Given the description of an element on the screen output the (x, y) to click on. 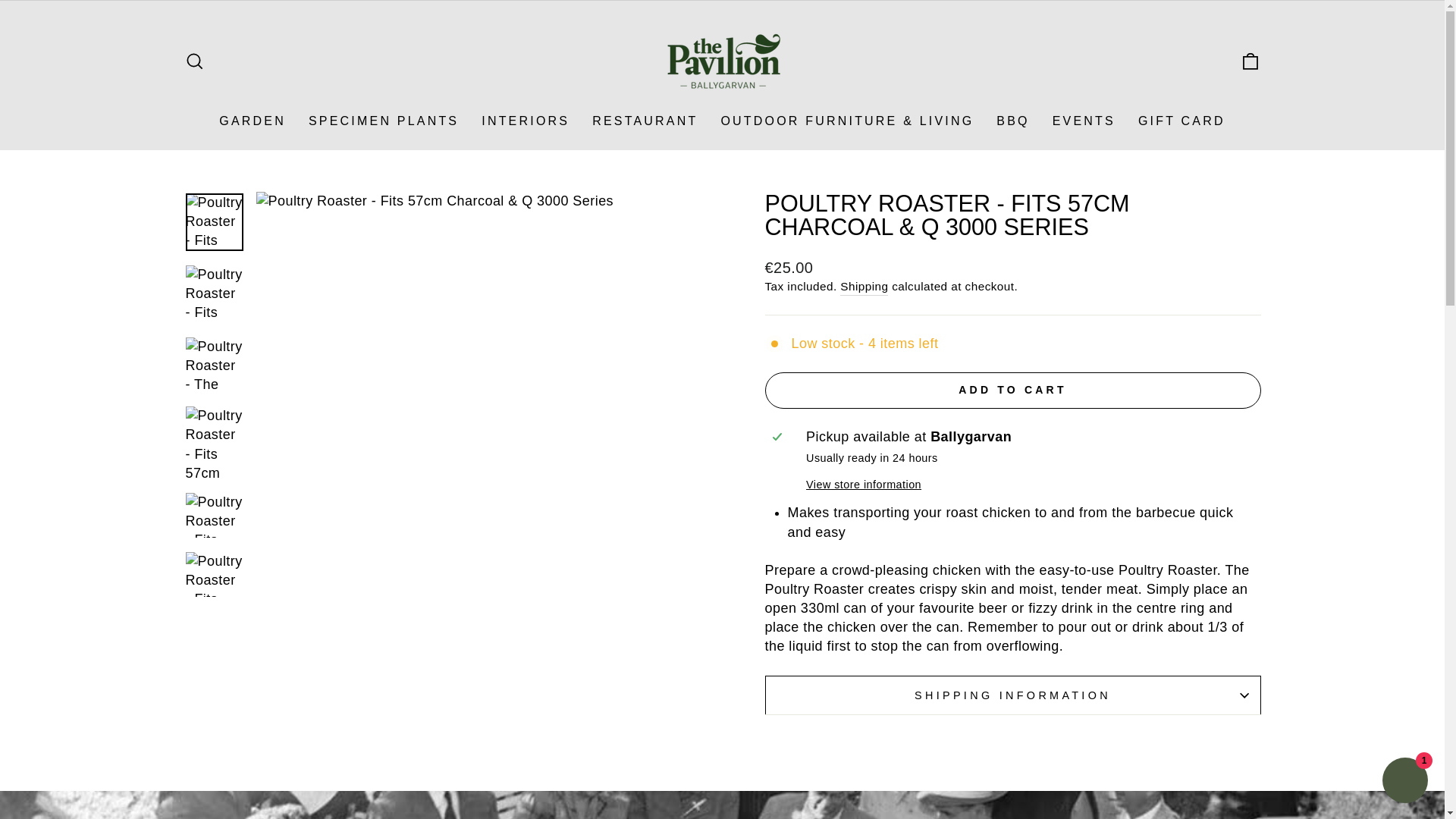
Shopify online store chat (1404, 781)
